Given the description of an element on the screen output the (x, y) to click on. 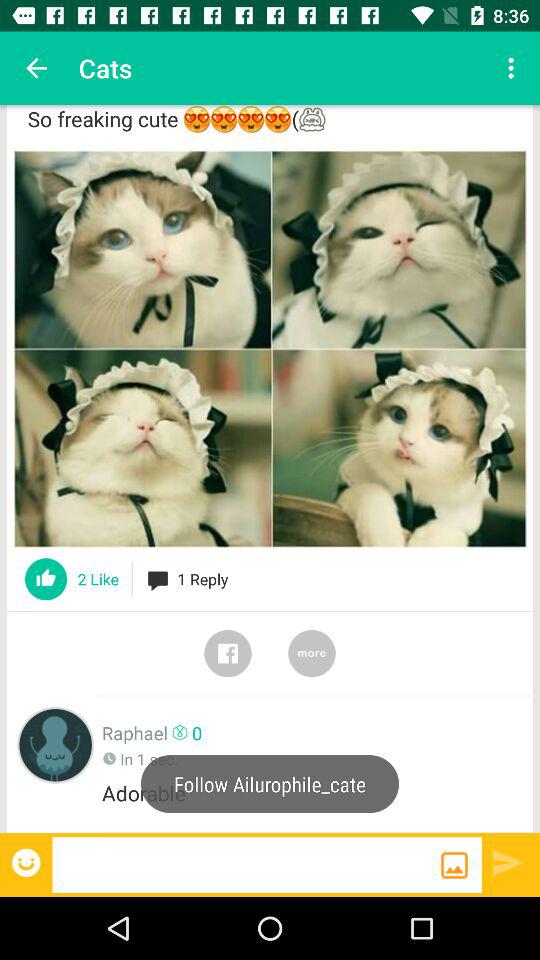
like button (46, 579)
